Given the description of an element on the screen output the (x, y) to click on. 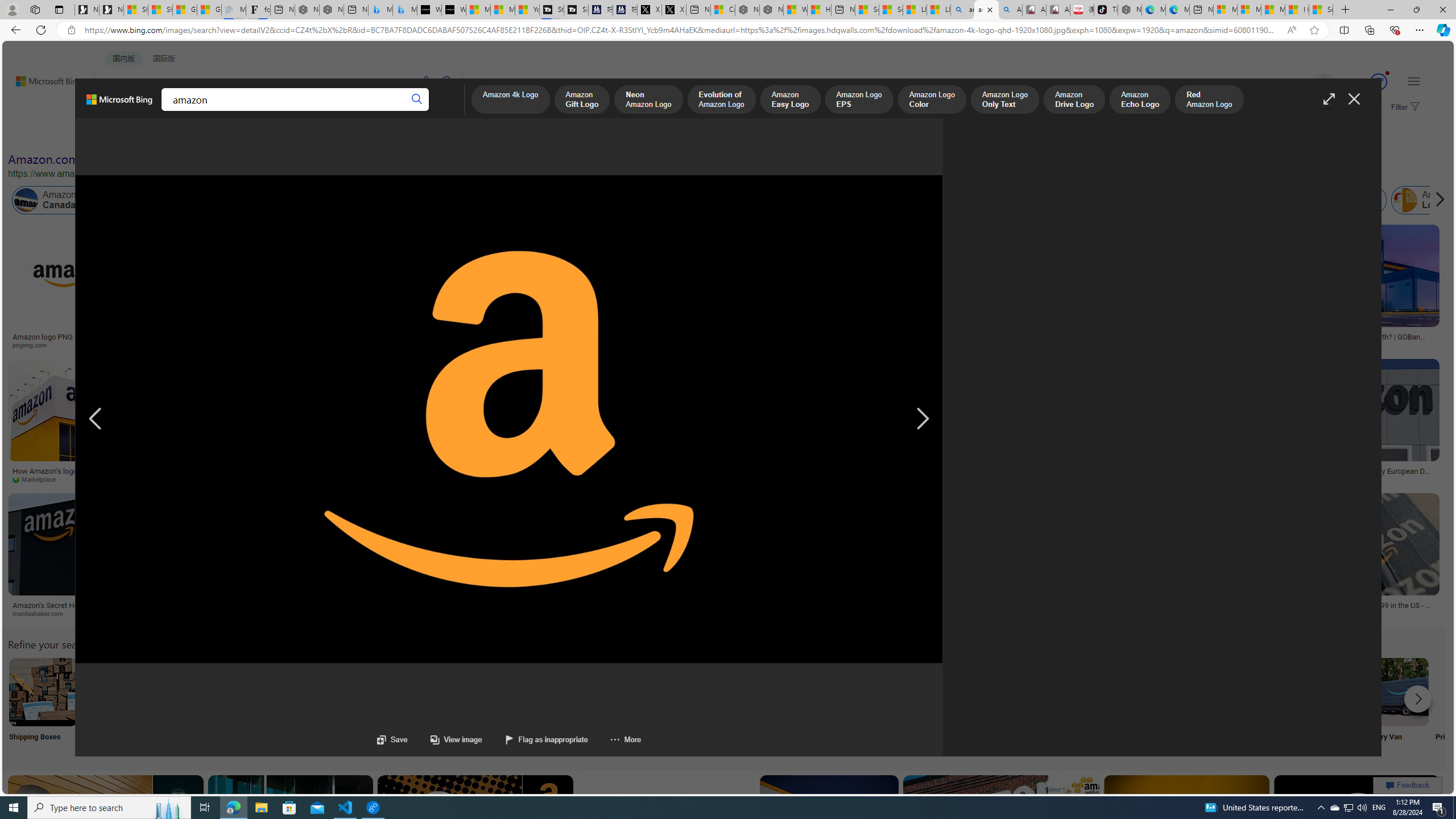
Back to Bing search (41, 78)
Sale Items (1169, 706)
The Verge (1062, 479)
Color (173, 135)
Amazon Cloud (344, 199)
Amazon Sale Items (1169, 691)
amazon - Search Images (986, 9)
MAPS (397, 111)
Package Delivery (418, 706)
Amazon Package (1320, 200)
